Given the description of an element on the screen output the (x, y) to click on. 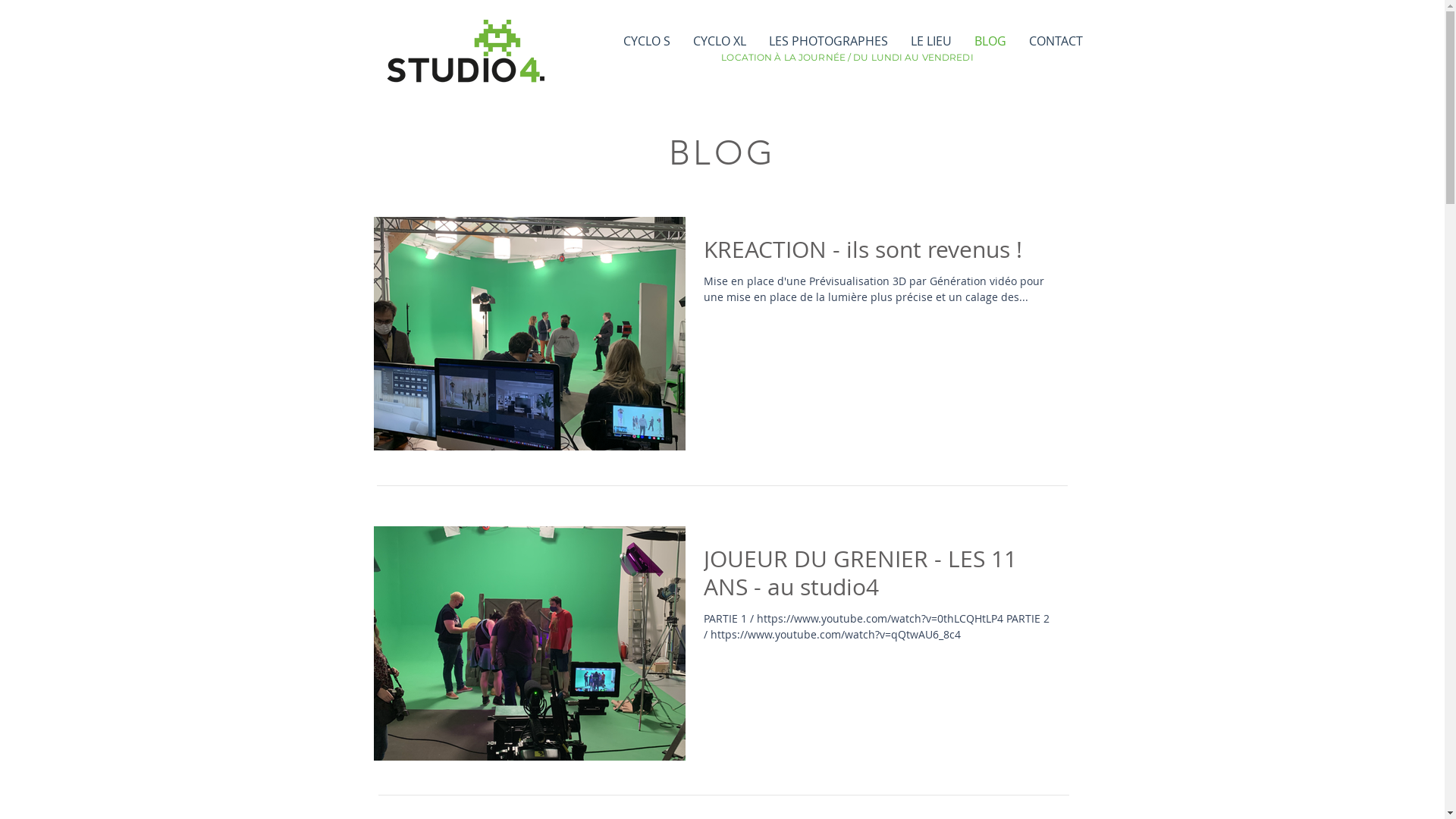
CYCLO XL Element type: text (718, 40)
logo studio 4 vert.png Element type: hover (465, 56)
LE LIEU Element type: text (931, 40)
CYCLO S Element type: text (645, 40)
LES PHOTOGRAPHES Element type: text (827, 40)
CONTACT Element type: text (1055, 40)
KREACTION - ils sont revenus ! Element type: text (878, 254)
BLOG Element type: text (990, 40)
JOUEUR DU GRENIER - LES 11 ANS - au studio4 Element type: text (878, 577)
